Given the description of an element on the screen output the (x, y) to click on. 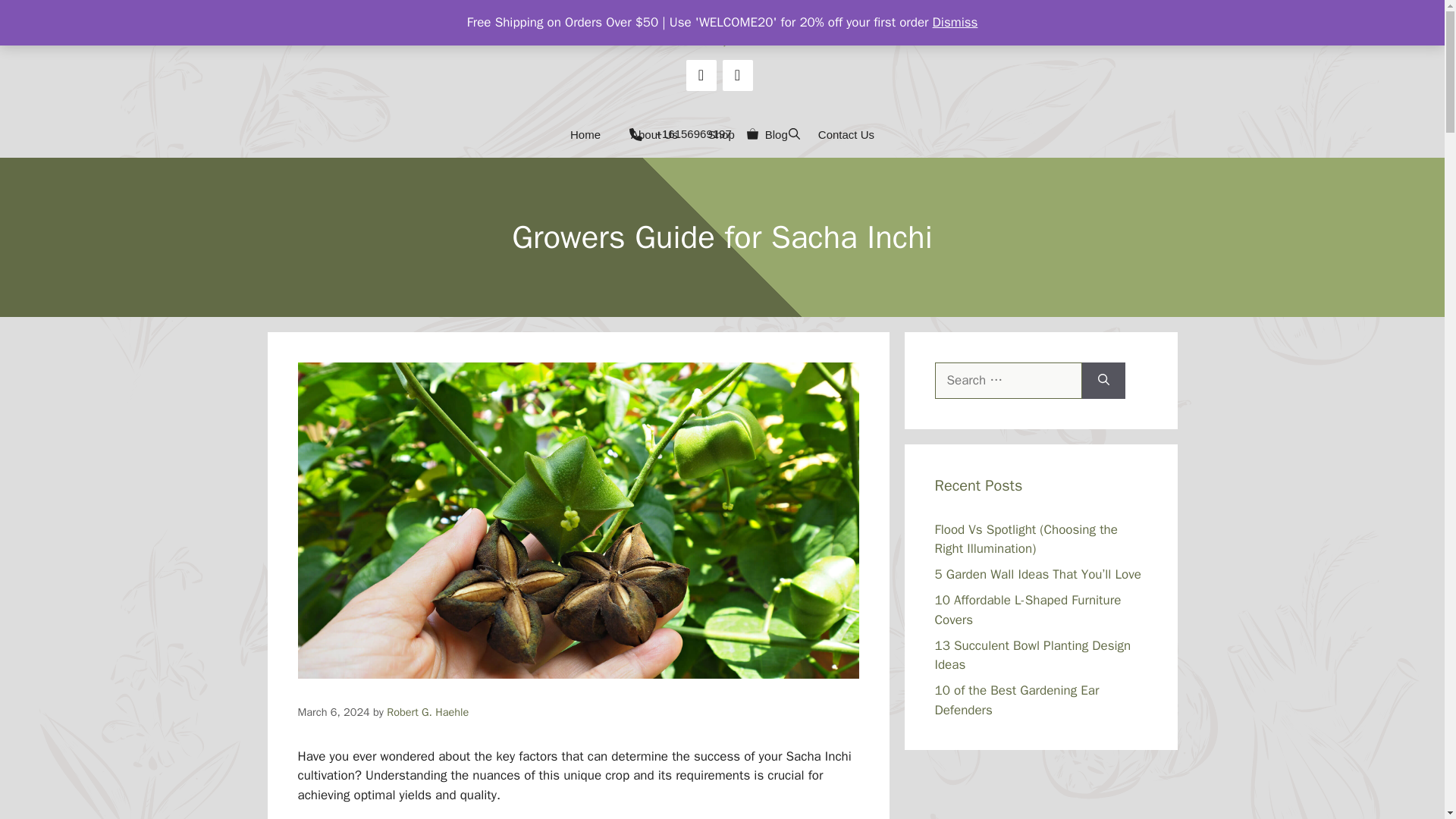
13 Succulent Bowl Planting Design Ideas (1032, 654)
About Us (654, 135)
Instagram (737, 74)
Robert G. Haehle (427, 712)
Search for: (1007, 380)
Shop (721, 135)
Home (584, 135)
Contact Us (846, 135)
Blog (776, 135)
10 Affordable L-Shaped Furniture Covers (1027, 610)
10 of the Best Gardening Ear Defenders (1016, 700)
View all posts by Robert G. Haehle (427, 712)
Facebook (700, 74)
View your shopping cart (752, 135)
